Given the description of an element on the screen output the (x, y) to click on. 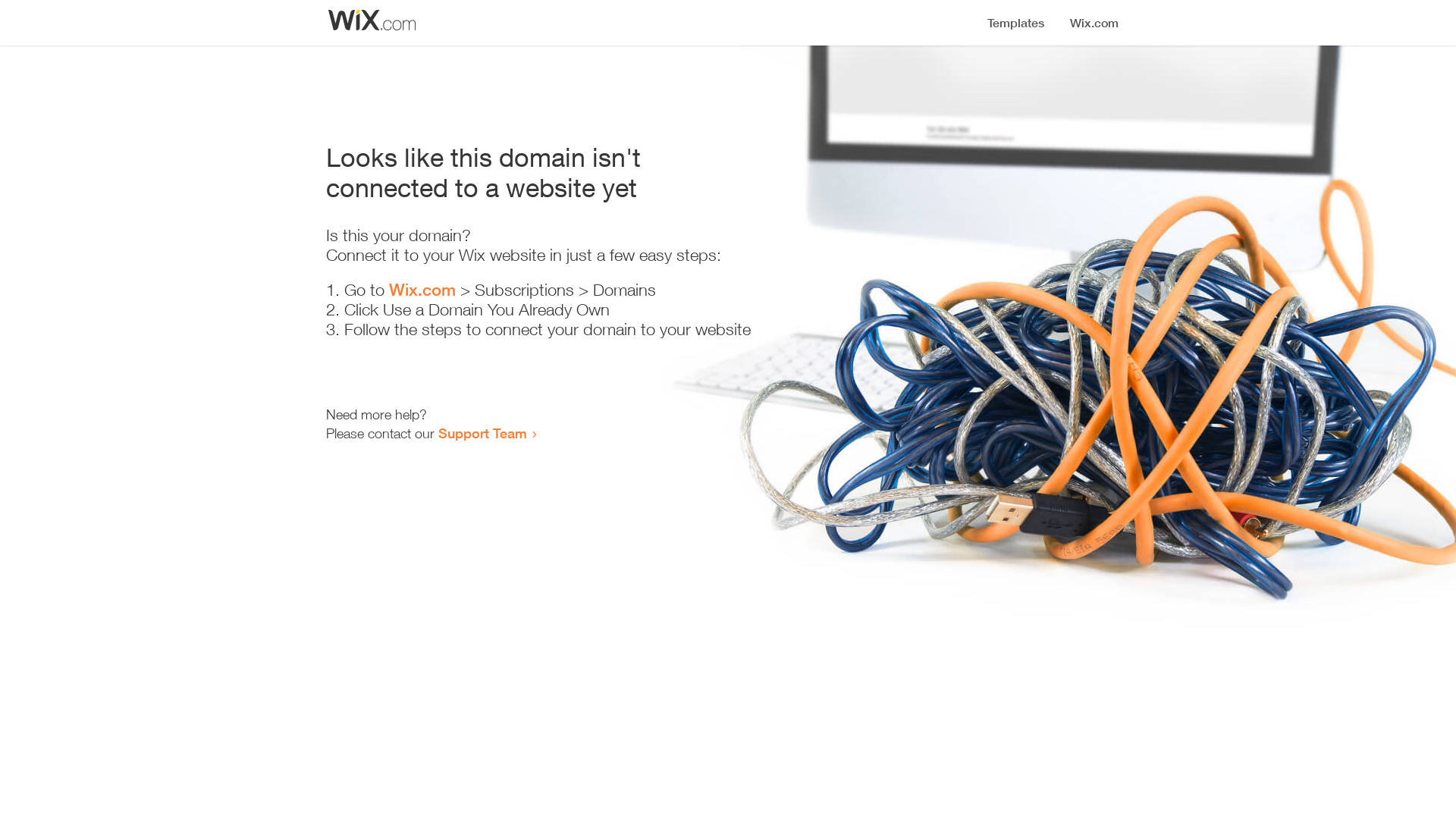
Wix.com Element type: text (422, 289)
Support Team Element type: text (482, 432)
